Given the description of an element on the screen output the (x, y) to click on. 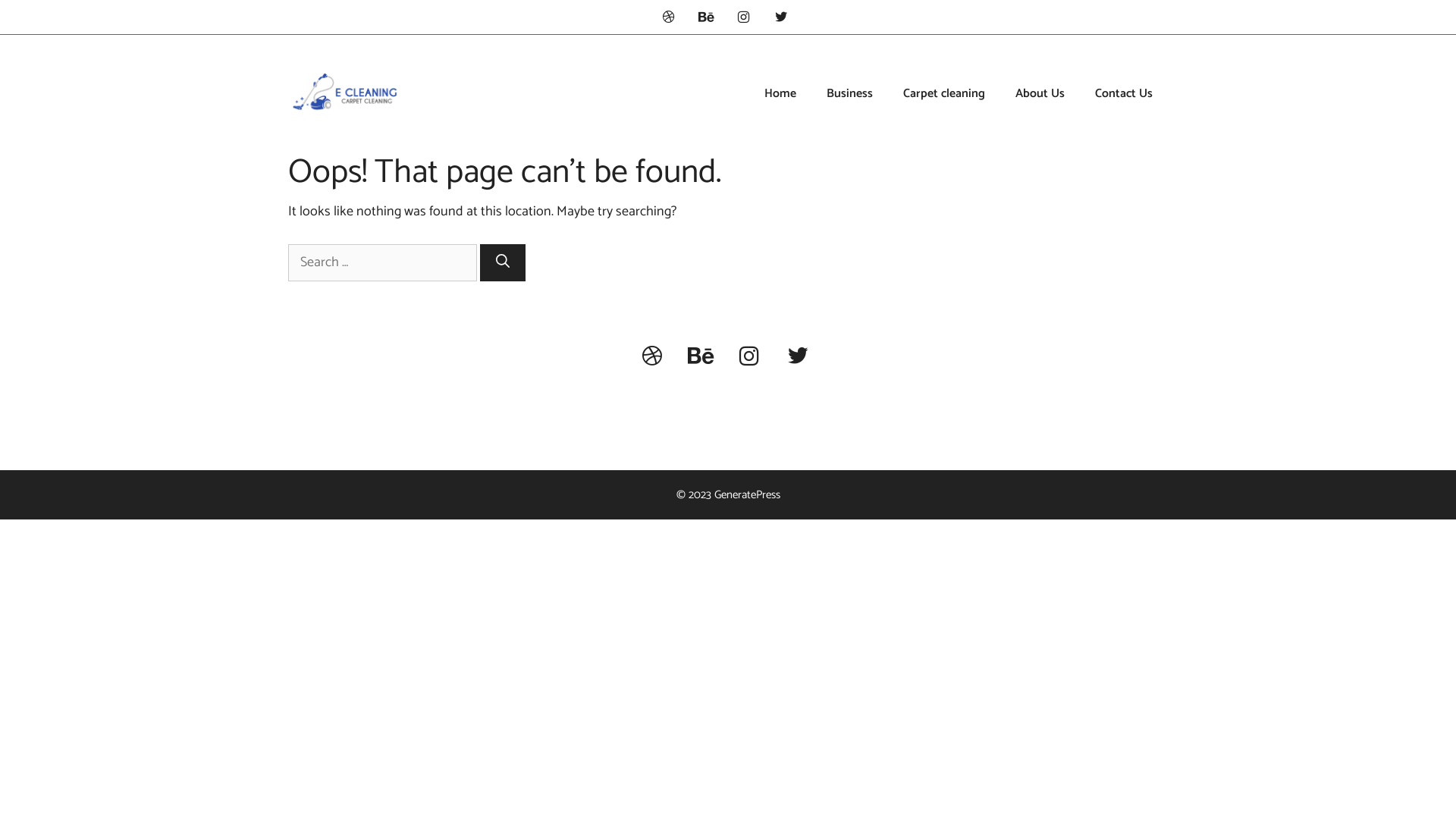
Home Element type: text (780, 93)
Dribbble Element type: hover (651, 357)
Contact Us Element type: text (1123, 93)
Search for: Element type: hover (382, 262)
Dribbble Element type: hover (668, 18)
Business Element type: text (849, 93)
Behance Element type: hover (705, 18)
Instagram Element type: hover (743, 18)
Carpet cleaning Element type: text (944, 93)
Instagram Element type: hover (749, 357)
Twitter Element type: hover (797, 357)
Twitter Element type: hover (781, 18)
About Us Element type: text (1039, 93)
Behance Element type: hover (700, 357)
